Given the description of an element on the screen output the (x, y) to click on. 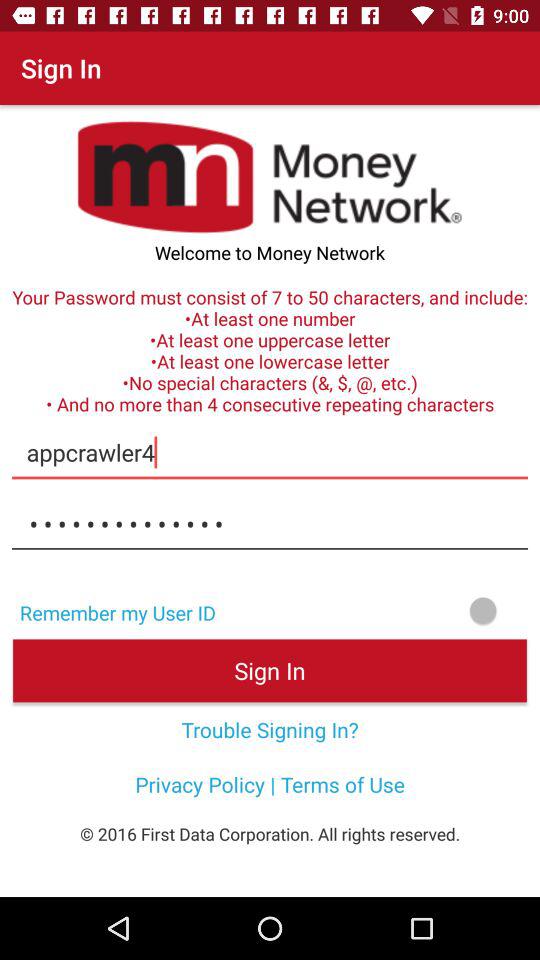
click the item next to remember my user item (384, 610)
